Given the description of an element on the screen output the (x, y) to click on. 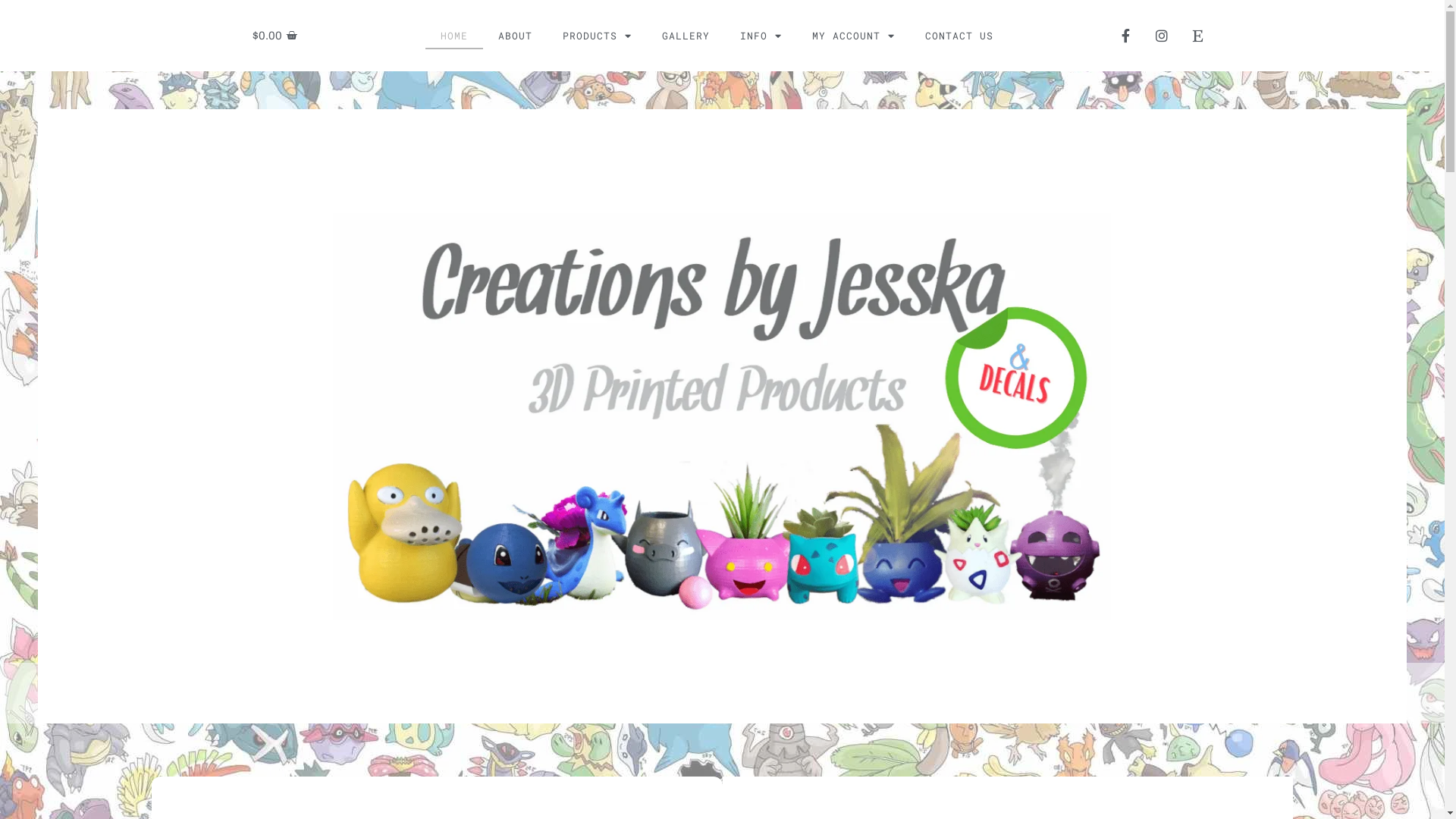
$0.00 Element type: text (274, 35)
HOME Element type: text (454, 35)
MY ACCOUNT Element type: text (853, 35)
ABOUT Element type: text (515, 35)
PRODUCTS Element type: text (596, 35)
GALLERY Element type: text (685, 35)
CONTACT US Element type: text (959, 35)
INFO Element type: text (760, 35)
